Given the description of an element on the screen output the (x, y) to click on. 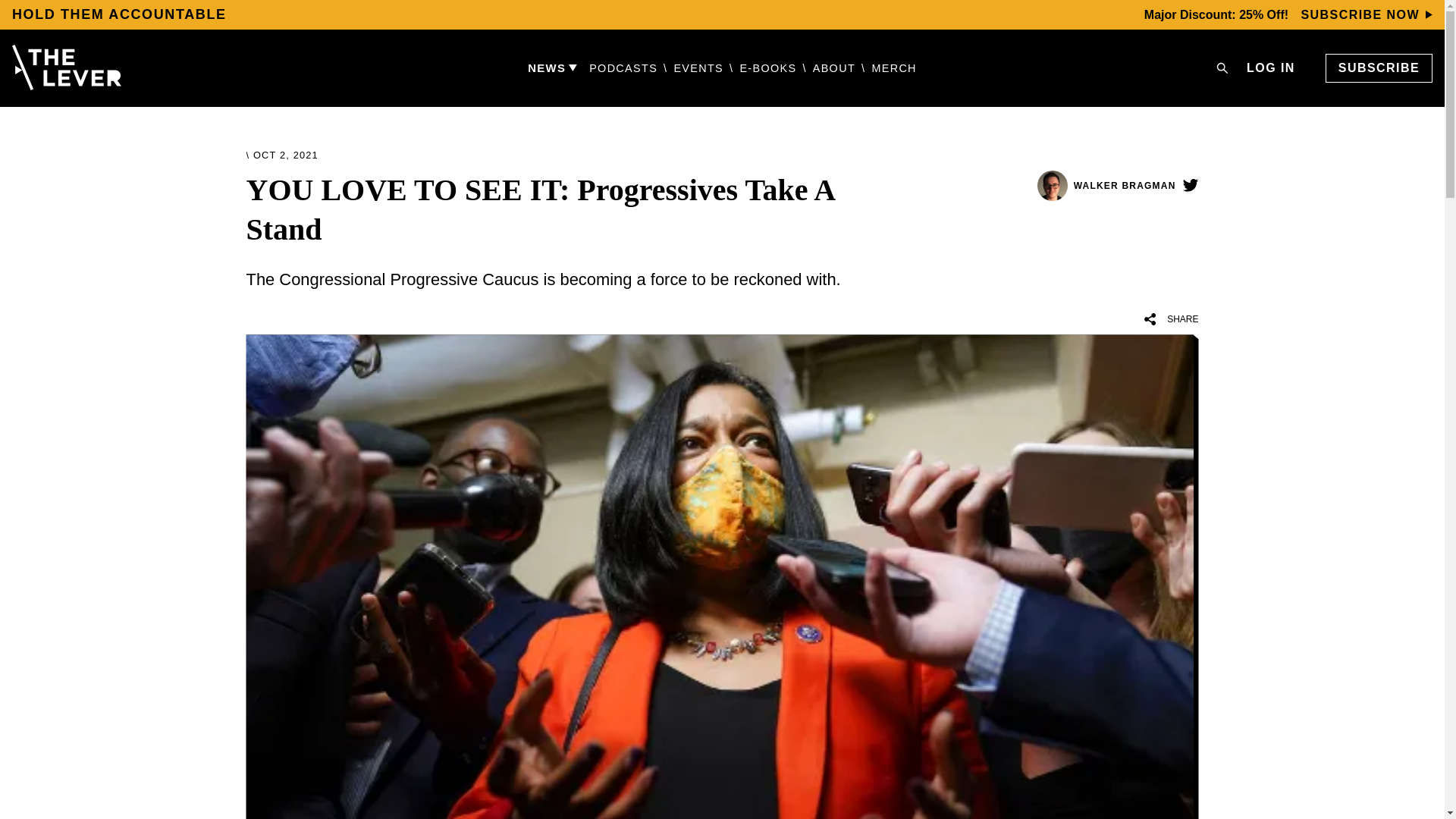
Twitter (1189, 185)
NEWS (551, 68)
WALKER BRAGMAN (1106, 184)
Search (1221, 68)
LOG IN (1270, 67)
ABOUT (834, 68)
E-BOOKS (767, 68)
SUBSCRIBE (1378, 68)
EVENTS (697, 68)
MERCH (892, 68)
PODCASTS (623, 68)
